Given the description of an element on the screen output the (x, y) to click on. 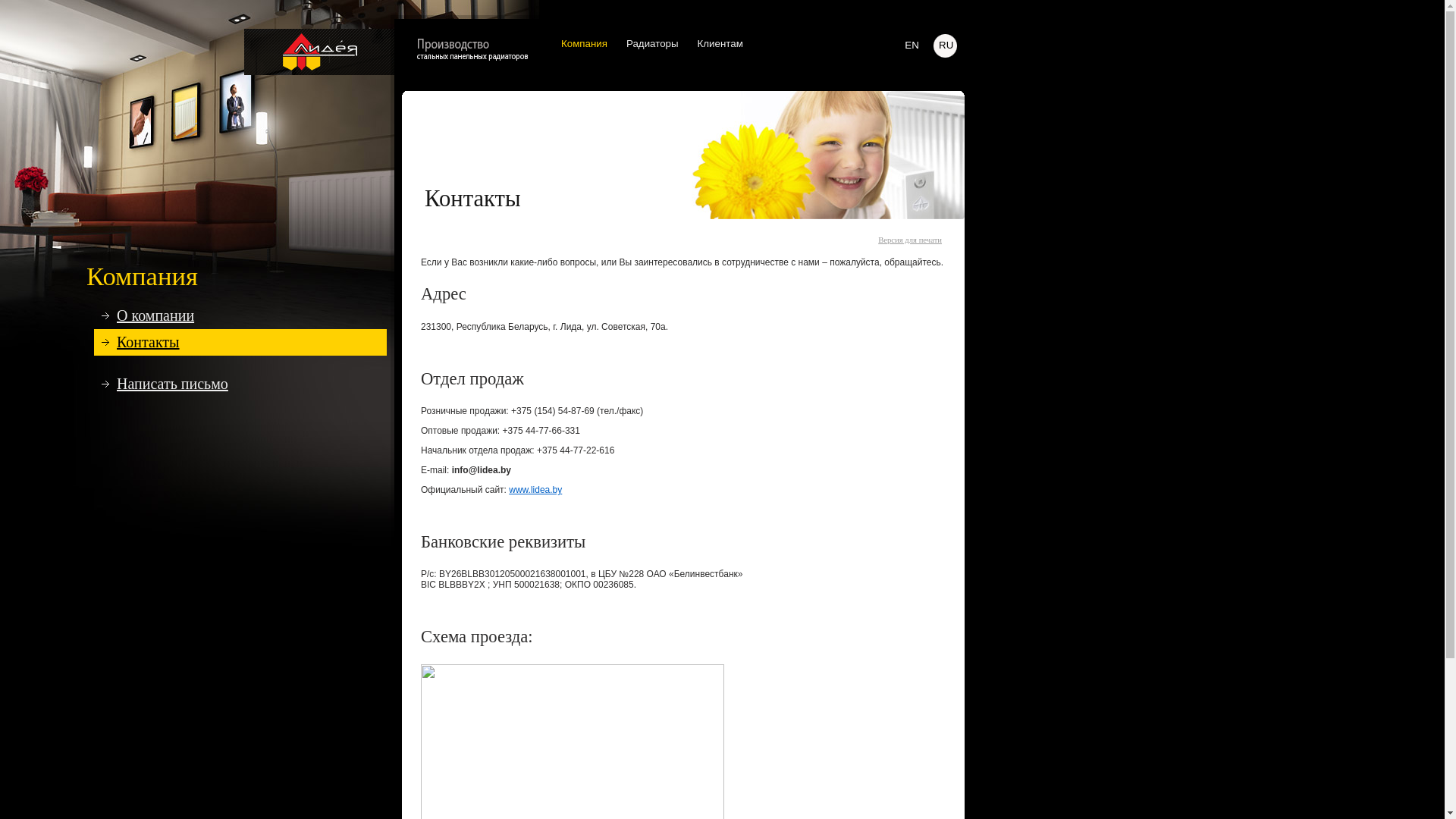
www.lidea.by Element type: text (534, 489)
EN Element type: text (910, 45)
